Given the description of an element on the screen output the (x, y) to click on. 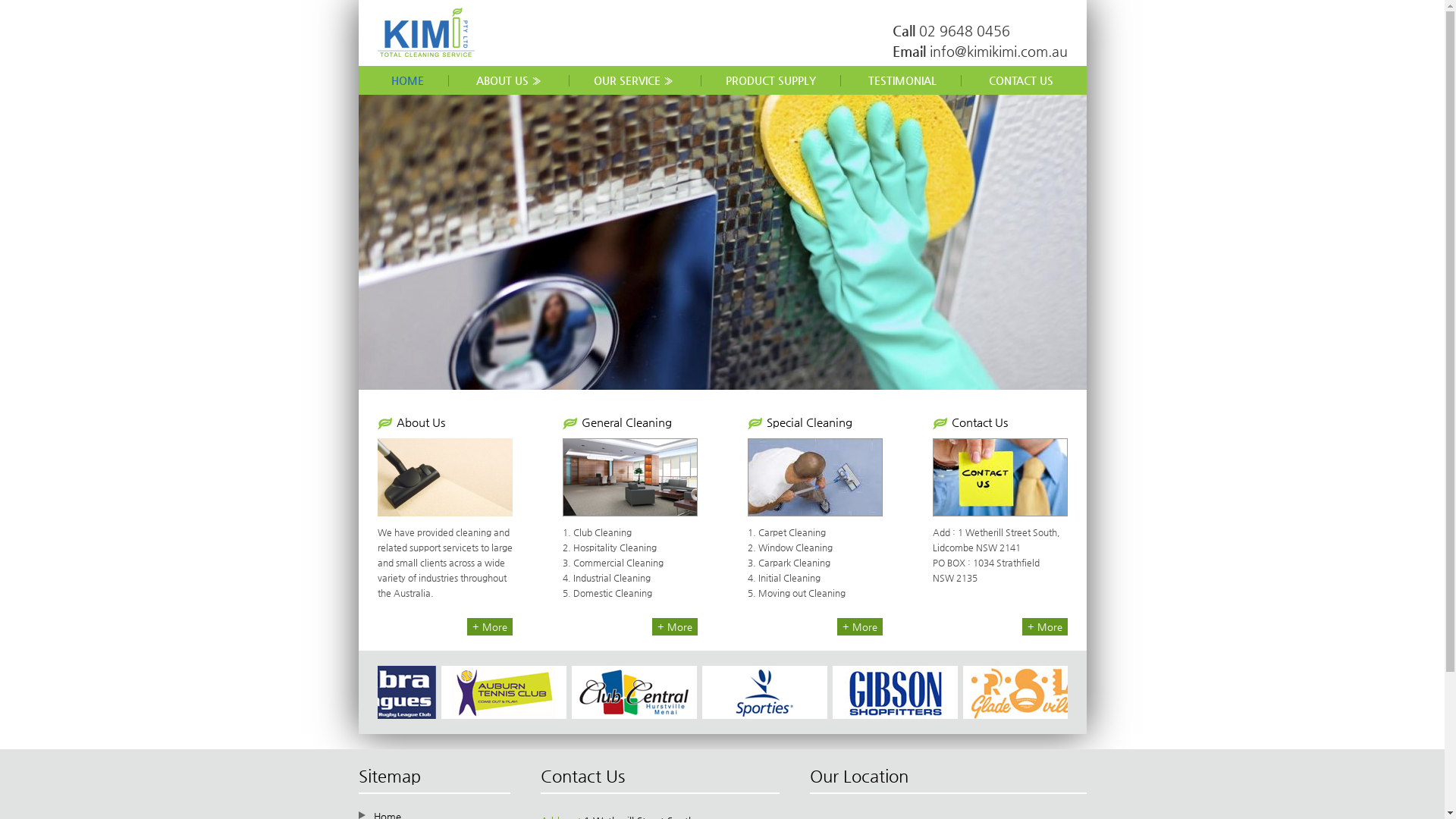
+ More Element type: text (1044, 626)
HOME Element type: text (407, 80)
banner 5 Element type: hover (780, 715)
Kimi Element type: hover (425, 53)
Image 2 Element type: hover (391, 715)
About Us Element type: text (419, 421)
1 Element type: text (1061, 350)
banner6 Element type: hover (909, 715)
PRODUCT SUPPLY Element type: text (770, 80)
CONTACT US Element type: text (1020, 80)
+ More Element type: text (674, 626)
Special Cleaning Element type: text (808, 421)
General Cleaning Element type: text (625, 421)
banner 3 Element type: hover (521, 715)
+ More Element type: text (489, 626)
banner7 Element type: hover (1038, 715)
banner 4 Element type: hover (650, 715)
+ More Element type: text (859, 626)
Contact Us Element type: text (978, 421)
TESTIMONIAL Element type: text (902, 80)
